Given the description of an element on the screen output the (x, y) to click on. 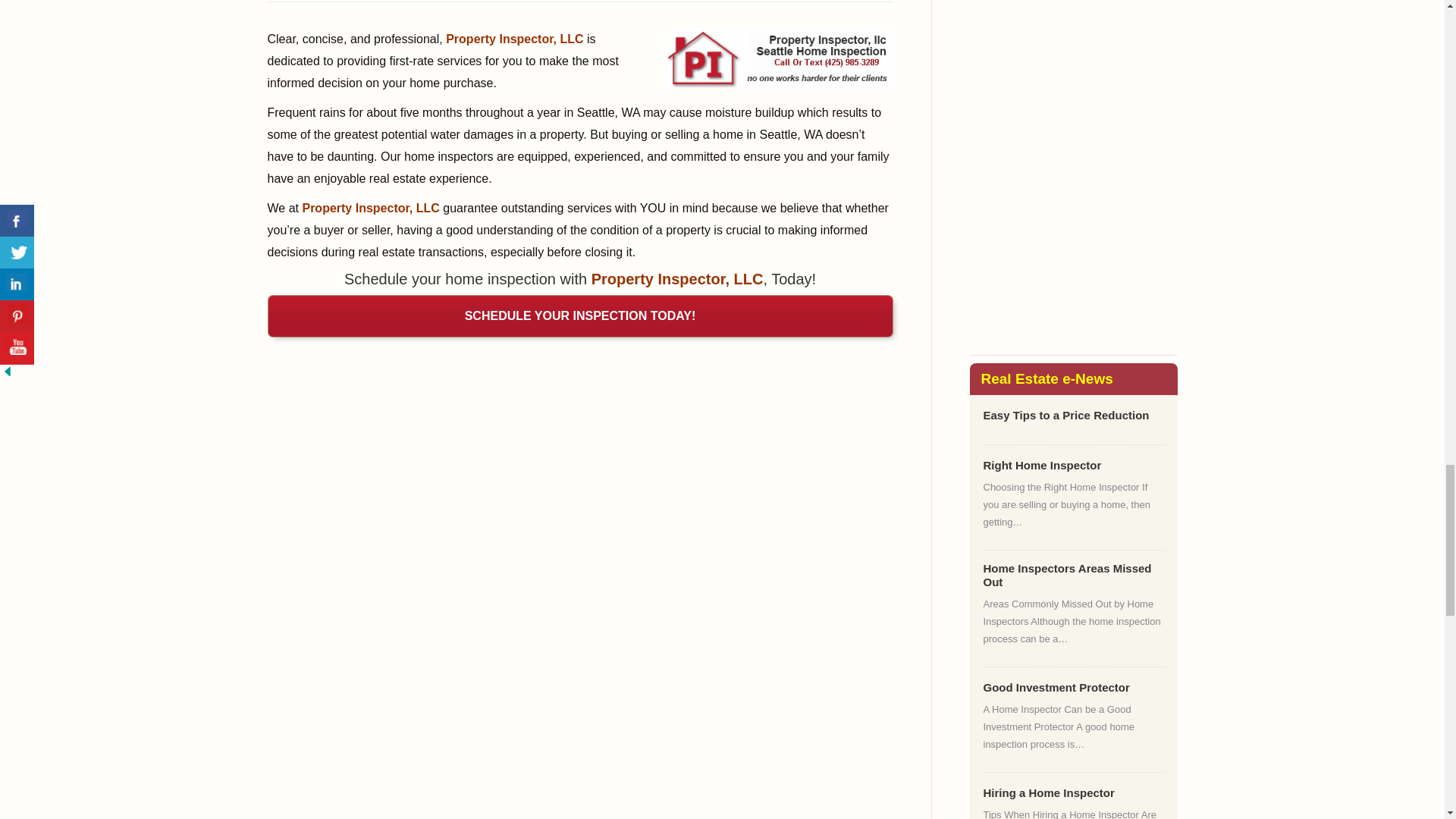
Schedule Your Home Inspection Now (579, 315)
